Given the description of an element on the screen output the (x, y) to click on. 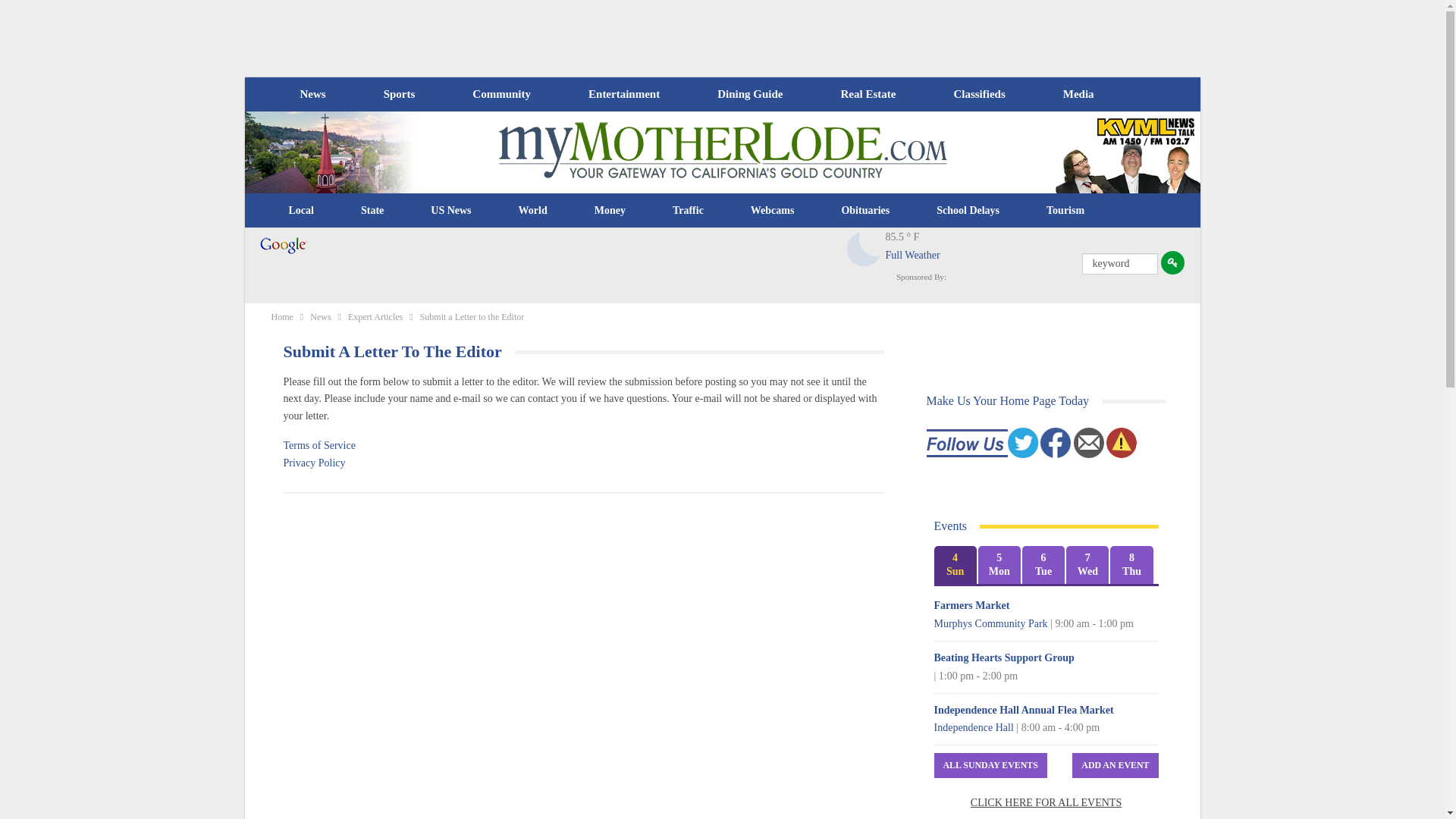
Classifieds (979, 93)
Sports (399, 93)
Dining Guide (749, 93)
keyword (1119, 263)
All Sunday Events (990, 765)
Obituaries (865, 210)
Submit (1172, 262)
Entertainment (624, 93)
Media (1078, 93)
World (532, 210)
US News (451, 210)
